Given the description of an element on the screen output the (x, y) to click on. 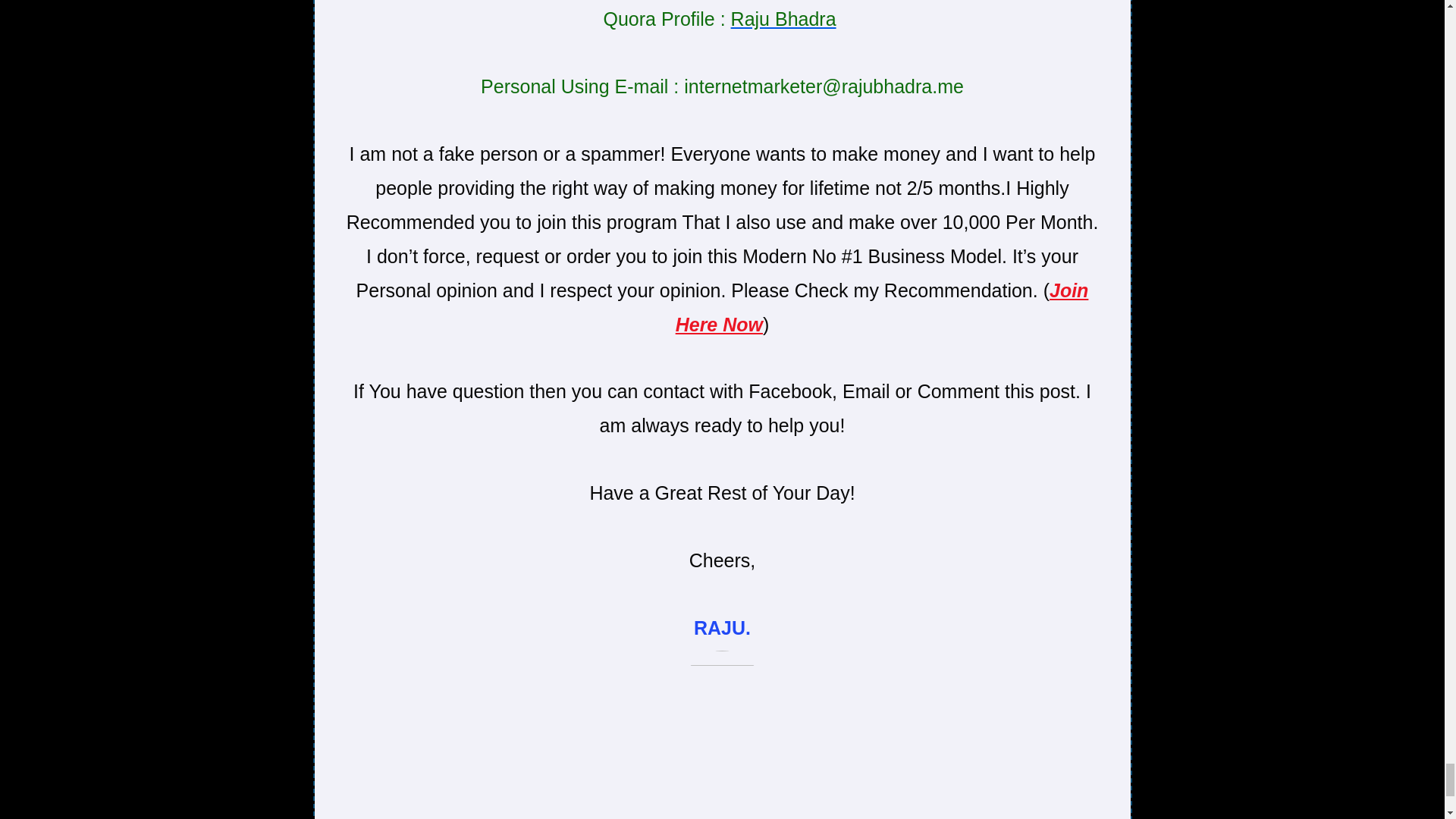
Join Here Now (882, 307)
Raju Bhadra (782, 18)
